Given the description of an element on the screen output the (x, y) to click on. 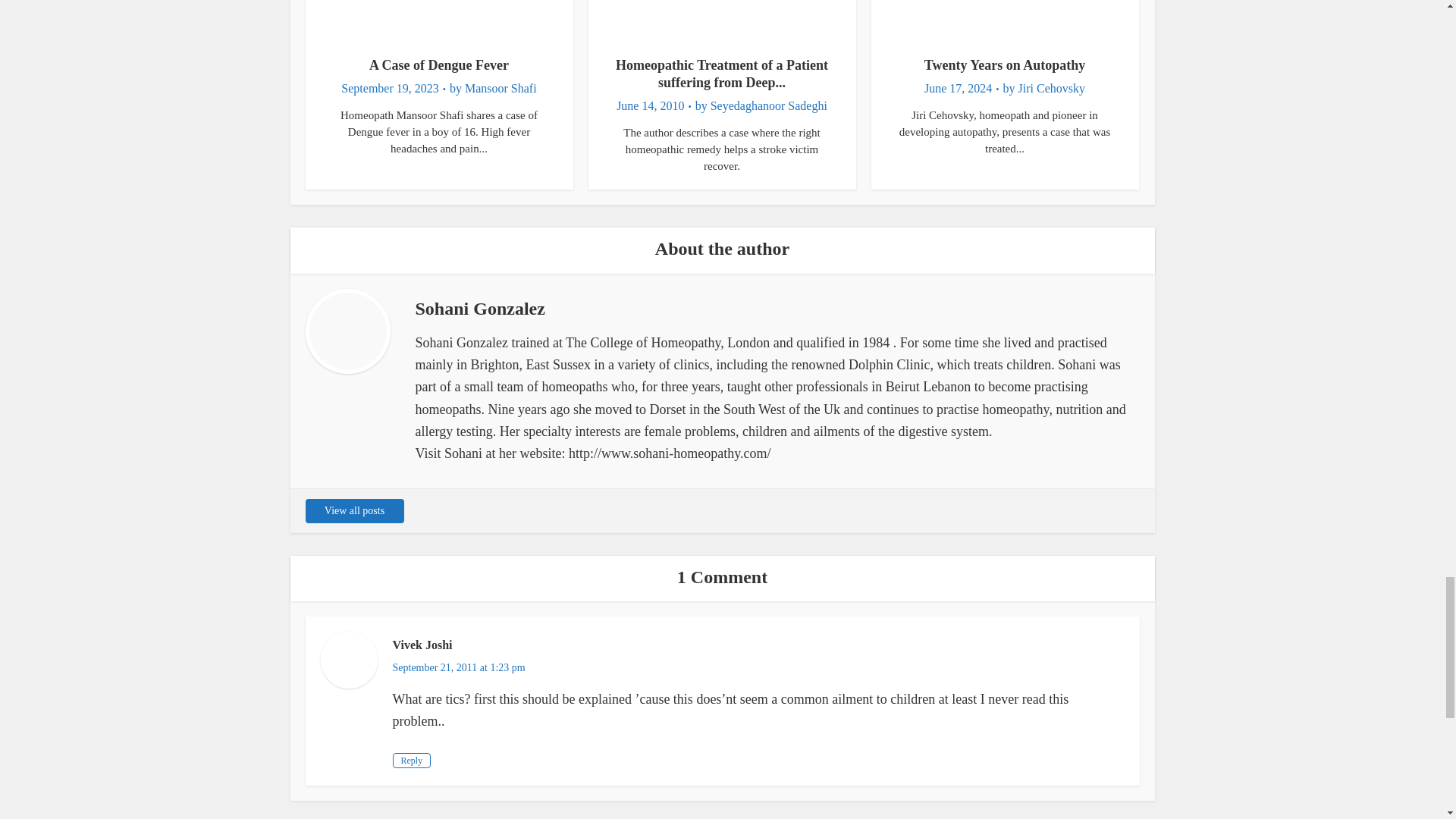
A Case of Dengue Fever (438, 64)
Twenty Years on Autopathy (1005, 64)
